Given the description of an element on the screen output the (x, y) to click on. 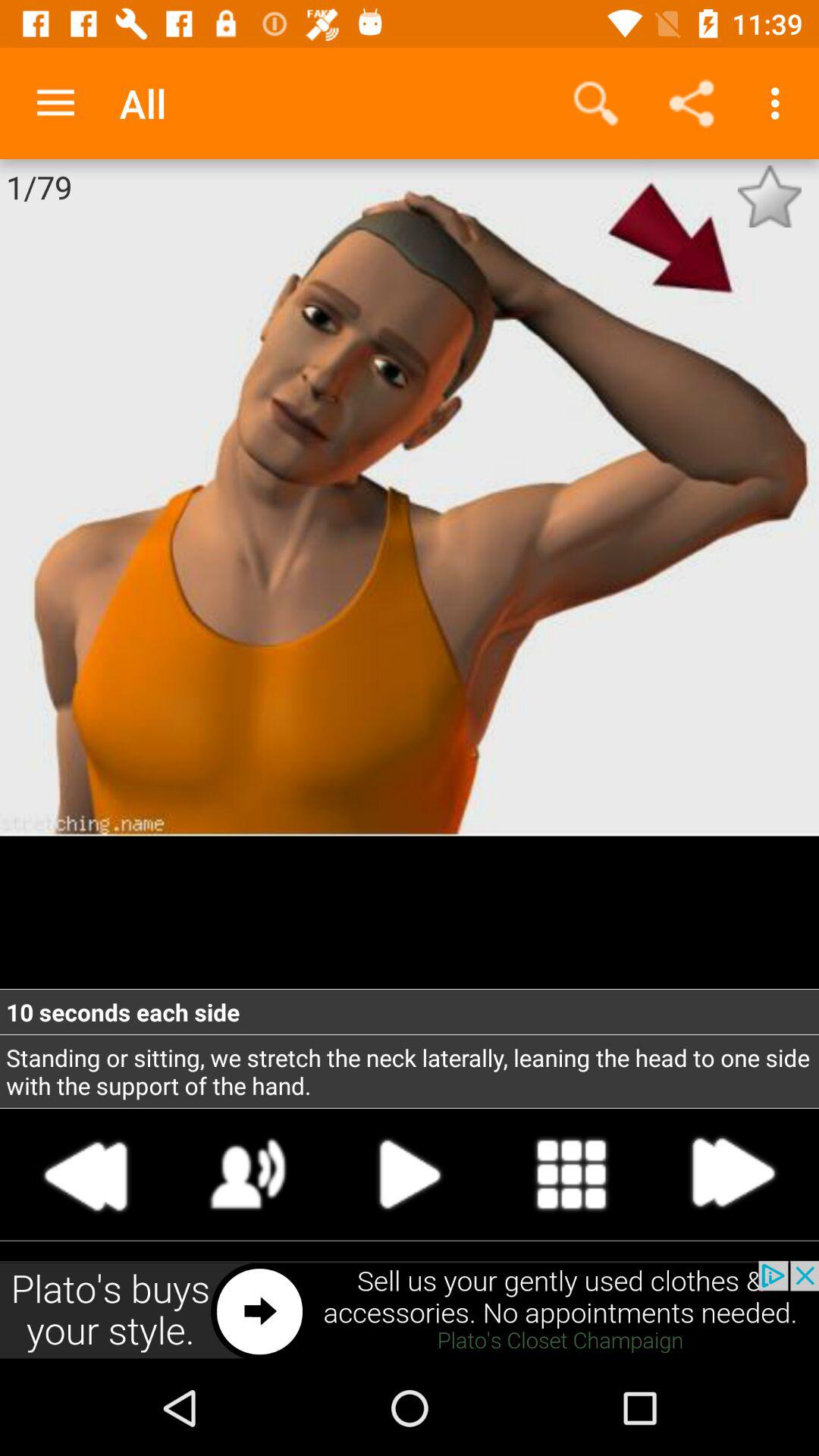
play (248, 1174)
